Given the description of an element on the screen output the (x, y) to click on. 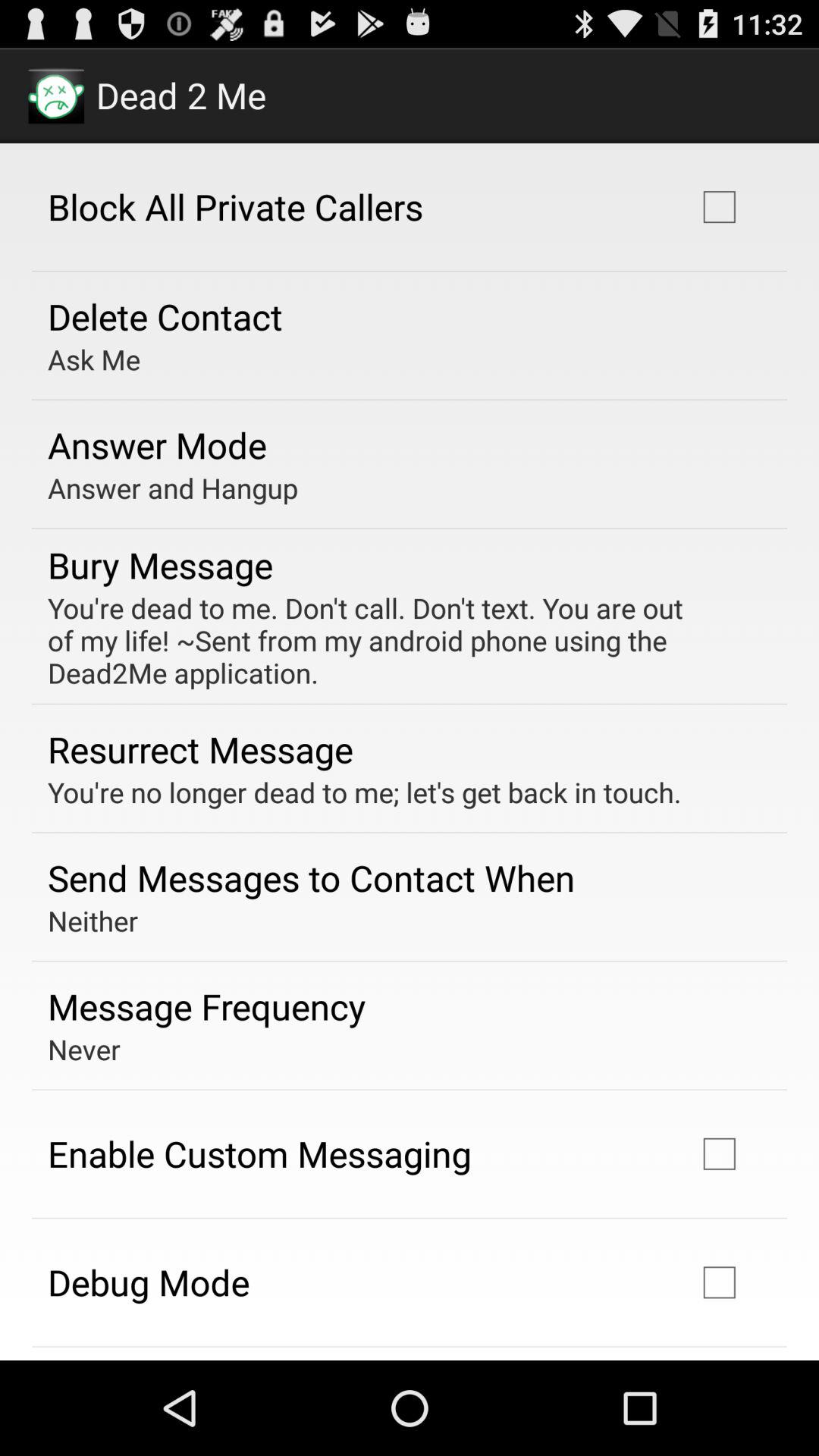
jump to send messages to app (311, 877)
